Given the description of an element on the screen output the (x, y) to click on. 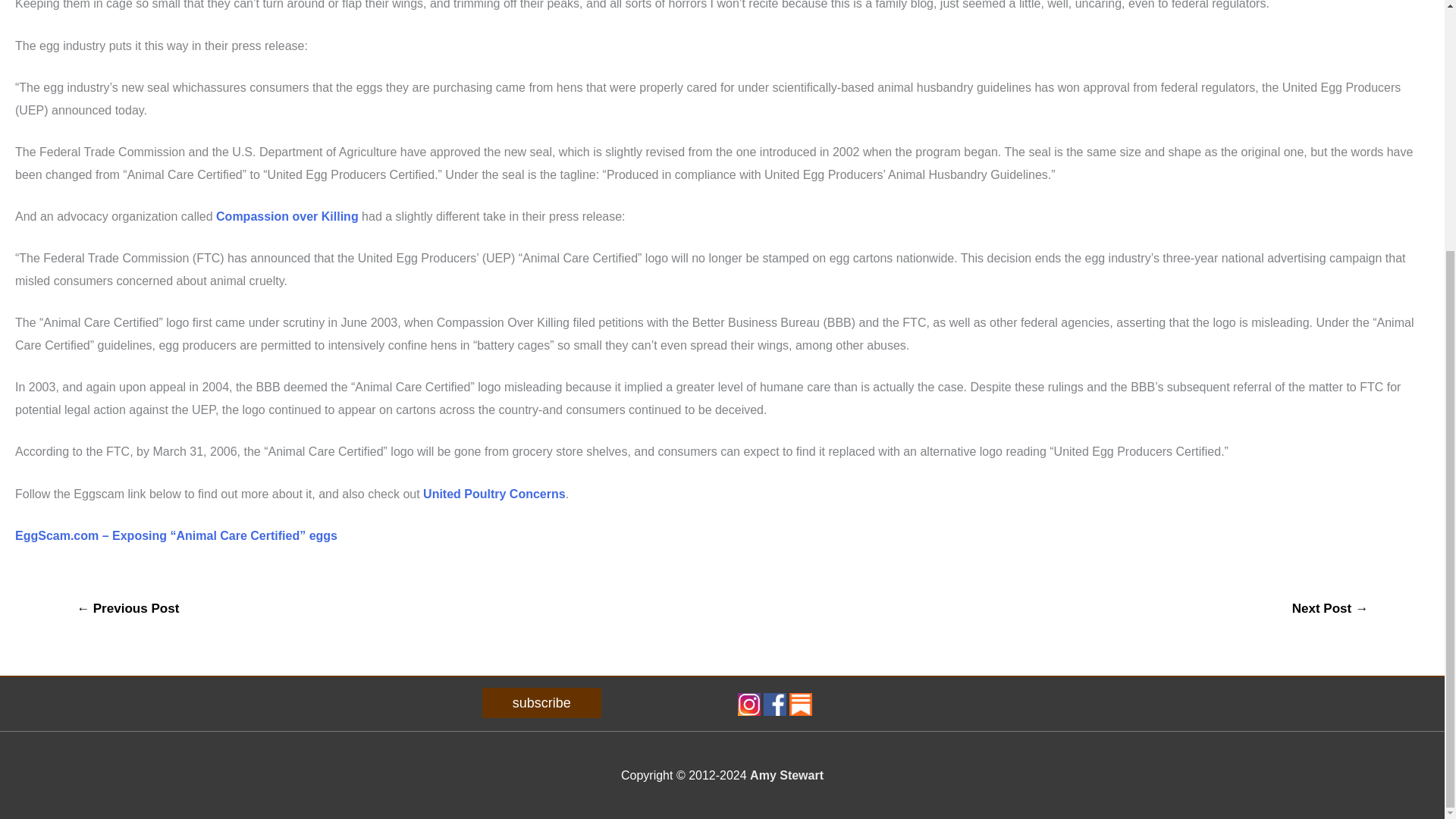
Compassion over Killing (286, 215)
subscribe (541, 702)
Amy Stewart on Substack (800, 703)
Amy Stewart on Facebook (774, 703)
Amy Stewart (786, 774)
Amy Stewart on Instagram (748, 703)
United Poultry Concerns (494, 493)
Bestselling Author Amy Stewart (786, 774)
